Given the description of an element on the screen output the (x, y) to click on. 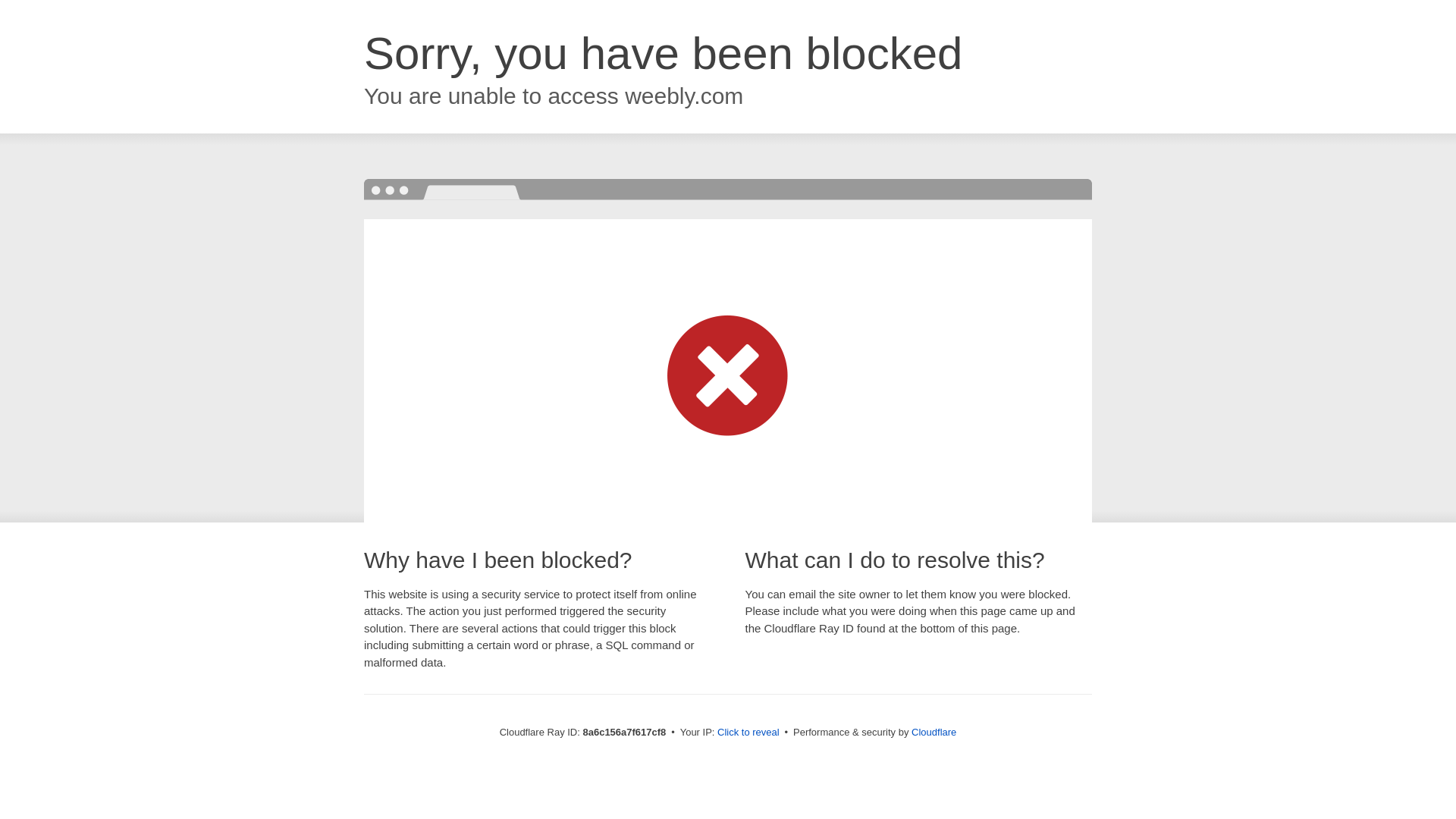
Click to reveal (747, 732)
Cloudflare (933, 731)
